Given the description of an element on the screen output the (x, y) to click on. 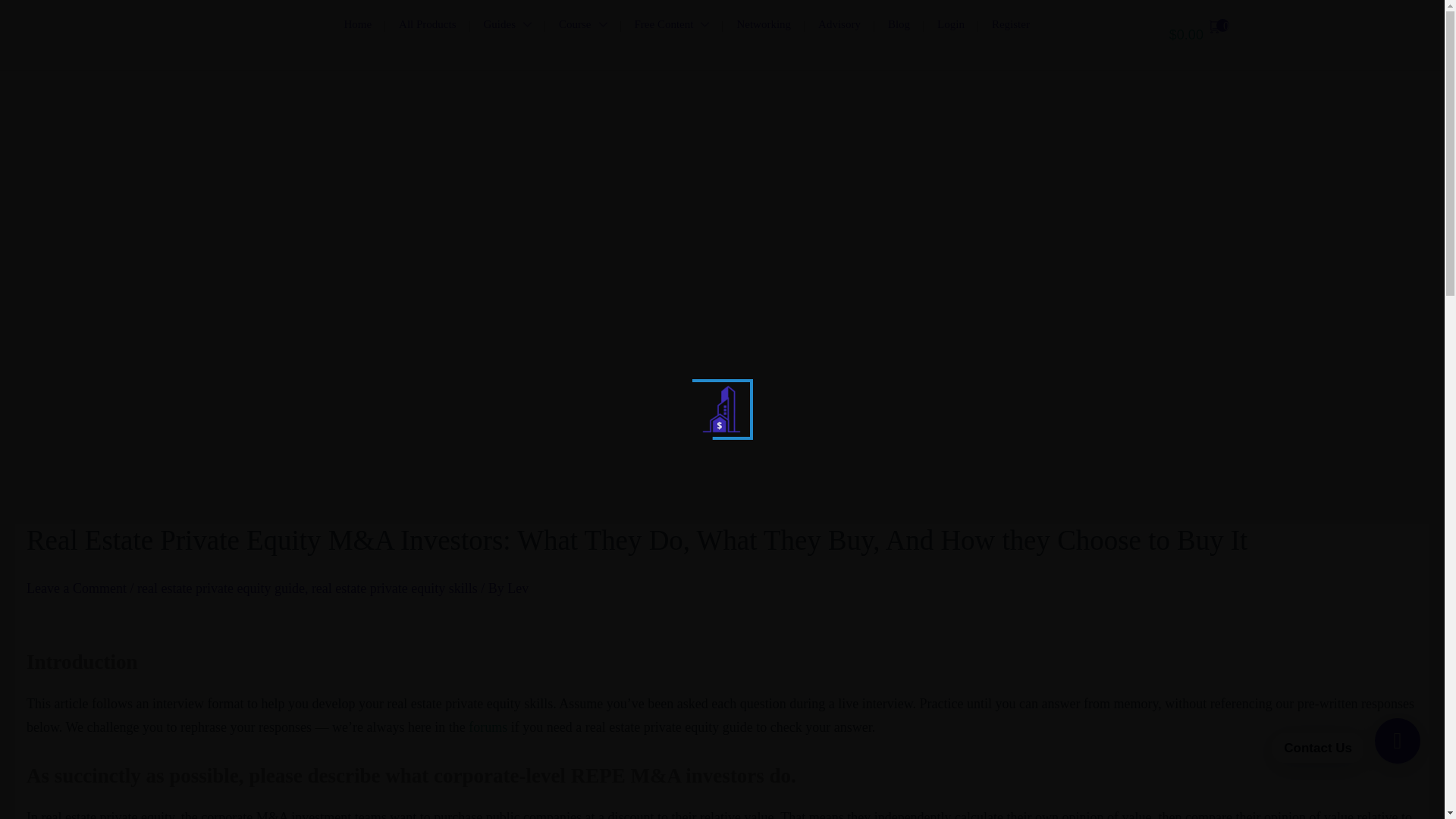
Home (357, 24)
Register (1010, 24)
All Products (426, 24)
View all posts by Lev (517, 588)
Networking (763, 24)
Free Content (671, 24)
Course (582, 24)
Login (950, 24)
Advisory (840, 24)
Guides (508, 24)
Blog (899, 24)
